Given the description of an element on the screen output the (x, y) to click on. 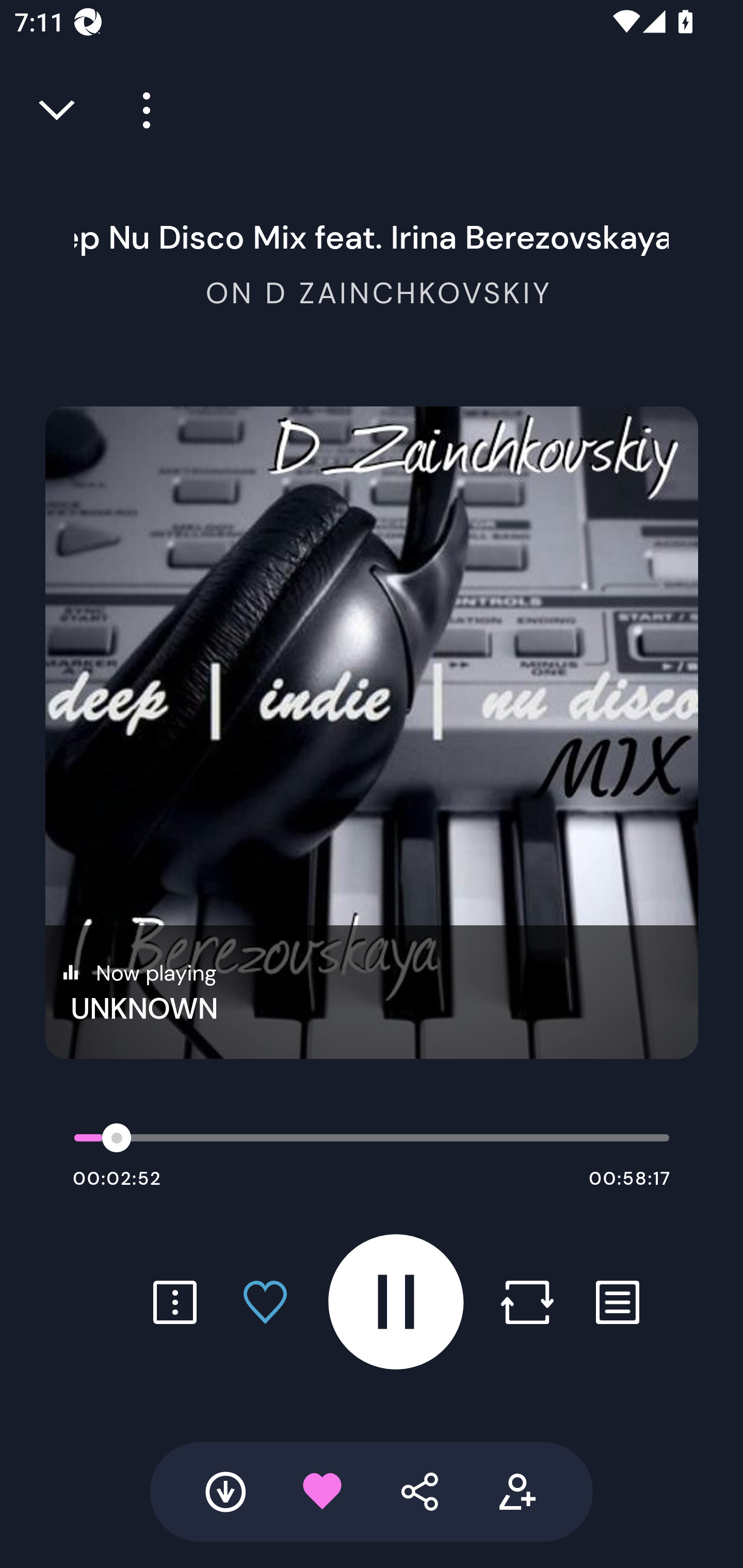
Close full player (58, 110)
Player more options button (139, 110)
Repost button (527, 1301)
